Given the description of an element on the screen output the (x, y) to click on. 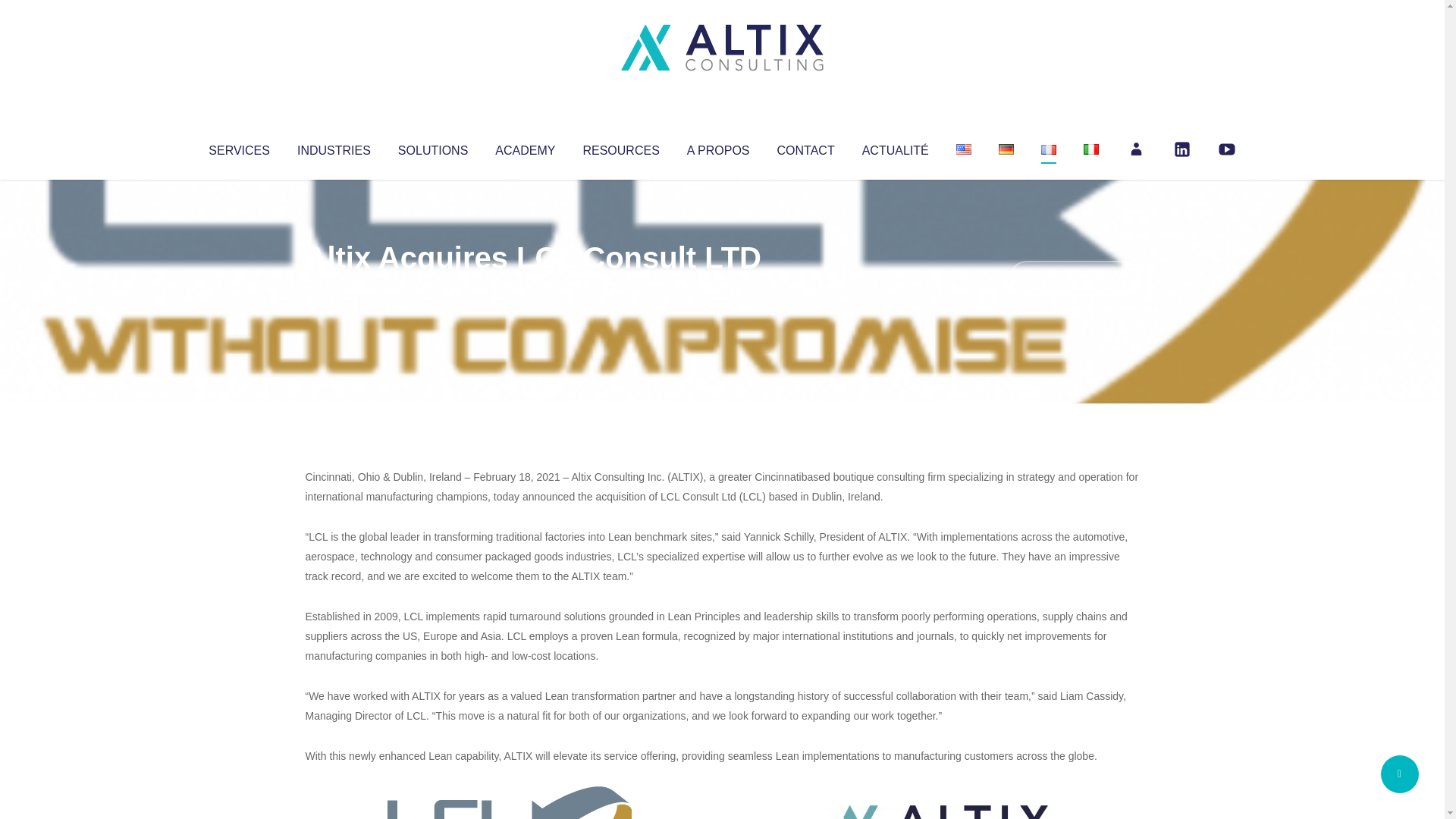
Articles par Altix (333, 287)
SERVICES (238, 146)
ACADEMY (524, 146)
Uncategorized (530, 287)
SOLUTIONS (432, 146)
Altix (333, 287)
INDUSTRIES (334, 146)
No Comments (1073, 278)
A PROPOS (718, 146)
RESOURCES (620, 146)
